Given the description of an element on the screen output the (x, y) to click on. 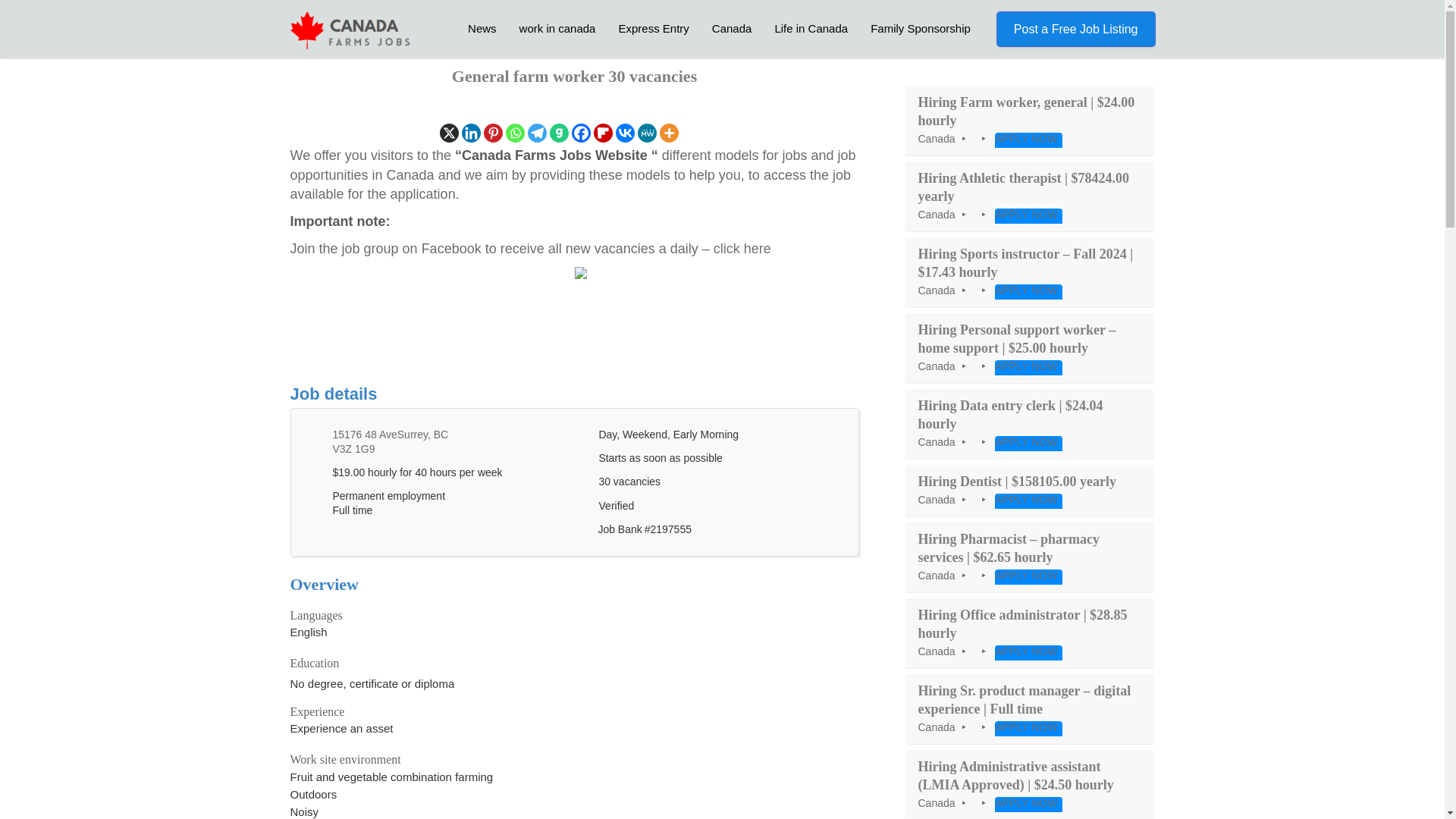
Canada (731, 28)
Pinterest (492, 132)
Facebook (581, 132)
Flipboard (603, 132)
click here (742, 248)
Family Sponsorship (920, 28)
Whatsapp (514, 132)
Post a Free Job Listing (1075, 28)
Linkedin (470, 132)
Express Entry (653, 28)
work in canada (557, 28)
X (448, 132)
Gab (559, 132)
Family Sponsorship (920, 28)
work in canada (557, 28)
